Given the description of an element on the screen output the (x, y) to click on. 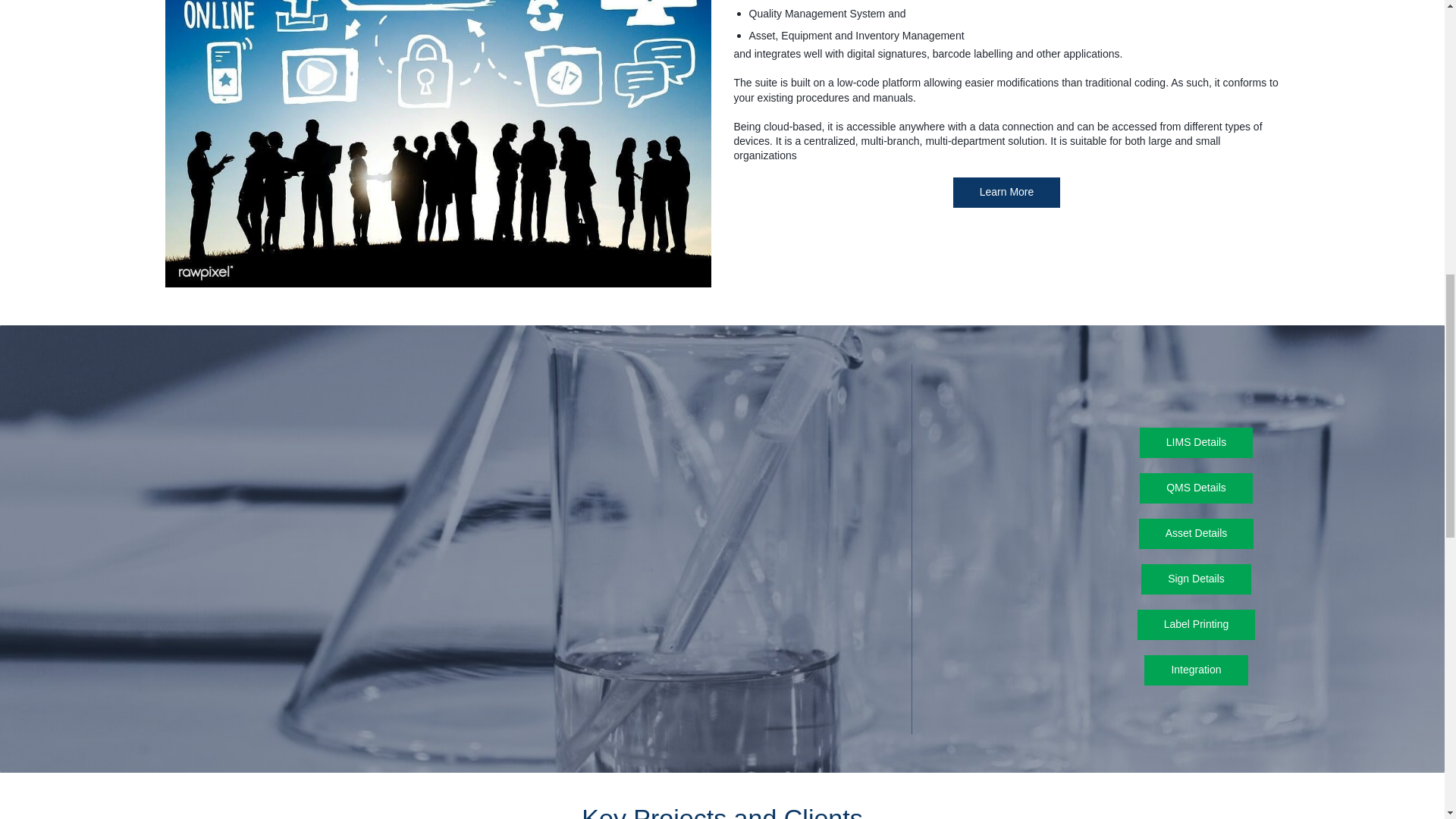
Integration (1195, 670)
Learn More (1007, 192)
Label Printing (1196, 624)
Read more on CSS (1007, 192)
LIMS Details (1196, 442)
Asset Details (1195, 533)
Sign Details (1195, 579)
QMS Details (1196, 488)
